Given the description of an element on the screen output the (x, y) to click on. 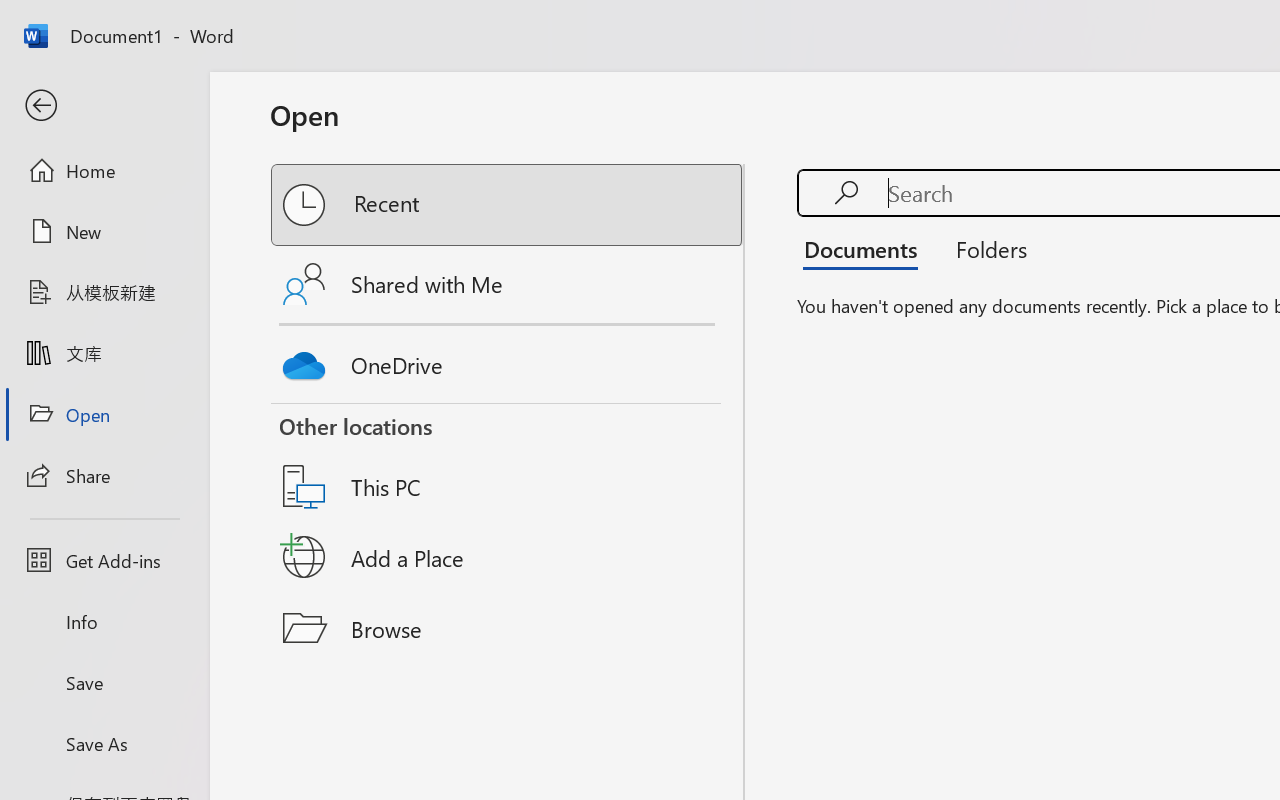
Back (104, 106)
Recent (507, 205)
Documents (866, 248)
